Given the description of an element on the screen output the (x, y) to click on. 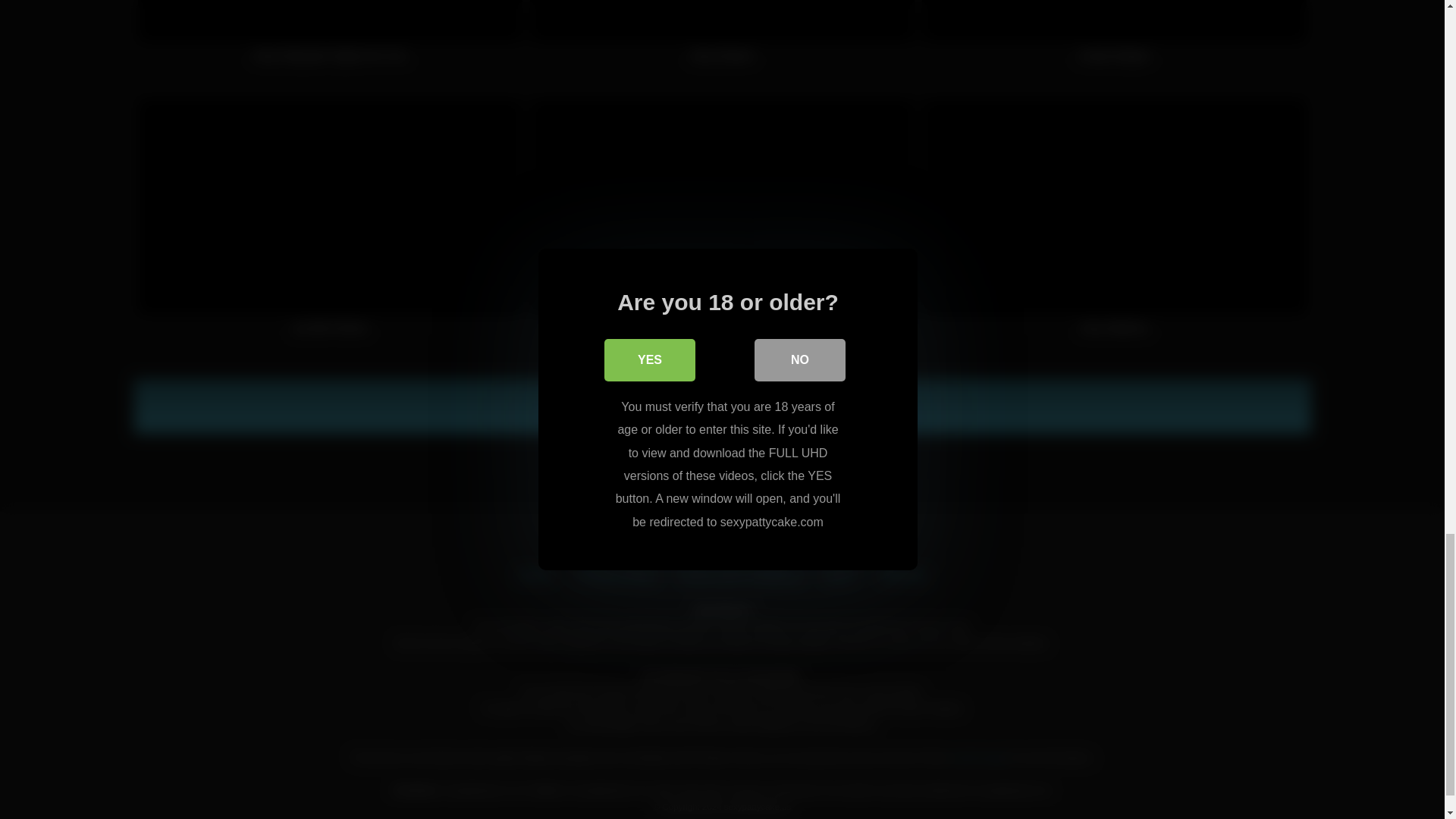
Sexy Shower (721, 39)
Sexy Pattycake Topless For You (330, 39)
Candy Stripper (1113, 39)
Sexy Waitress (1113, 225)
Up-Skirt Shoots (330, 225)
Privacy Policy (615, 574)
Sexy Shower (721, 39)
Sexy Waitress (1113, 225)
Home (534, 574)
Click Here For Membership To Full-Length Episode! (721, 406)
Terms and Conditions (740, 574)
2257 (840, 574)
Up-Skirt Shoots (330, 225)
Tit Flashing (721, 225)
Candy Stripper (1113, 39)
